Given the description of an element on the screen output the (x, y) to click on. 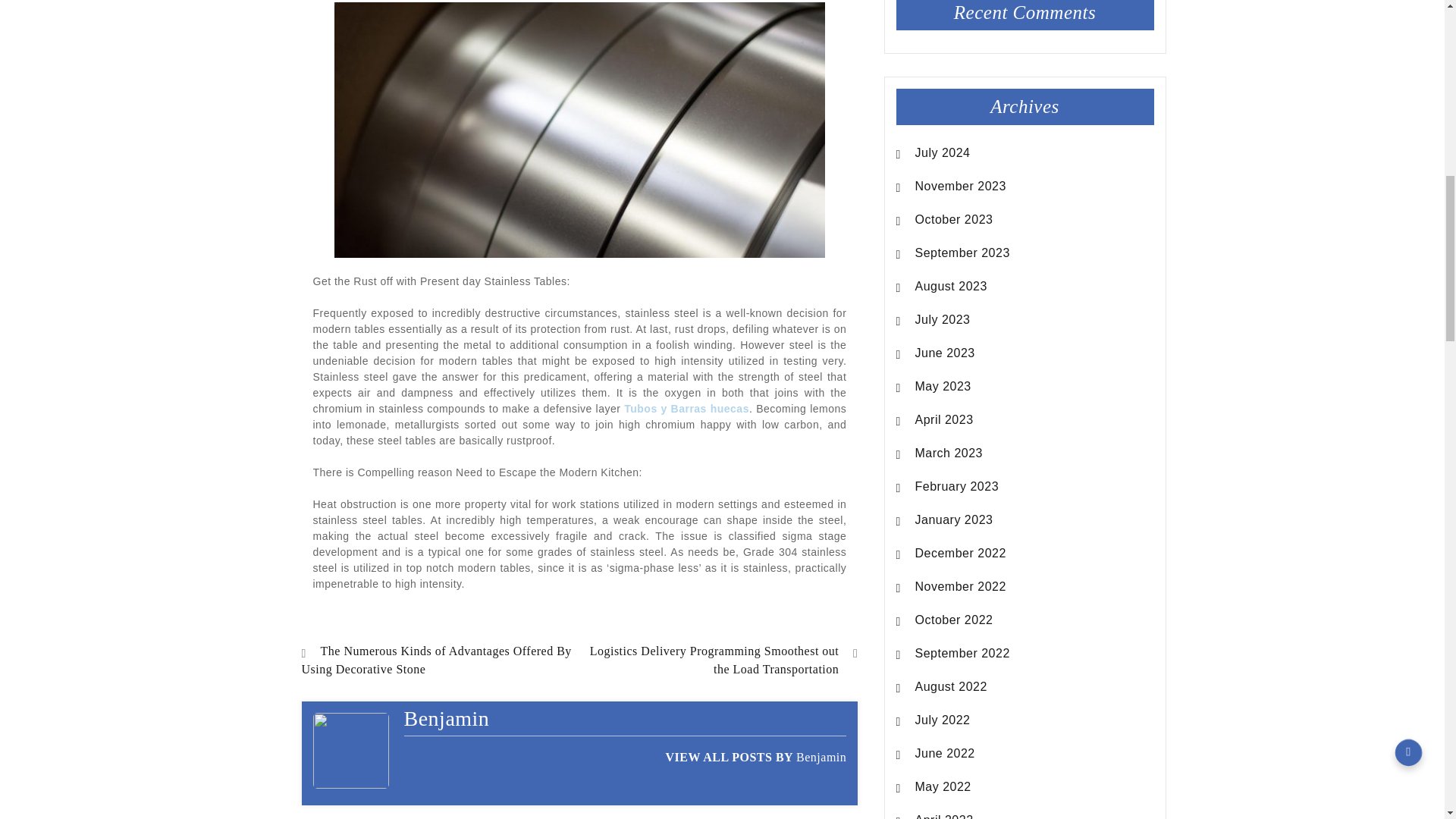
July 2023 (943, 320)
November 2023 (960, 186)
August 2022 (951, 687)
December 2022 (960, 553)
February 2023 (956, 486)
April 2022 (944, 815)
October 2022 (953, 619)
November 2022 (960, 587)
